Given the description of an element on the screen output the (x, y) to click on. 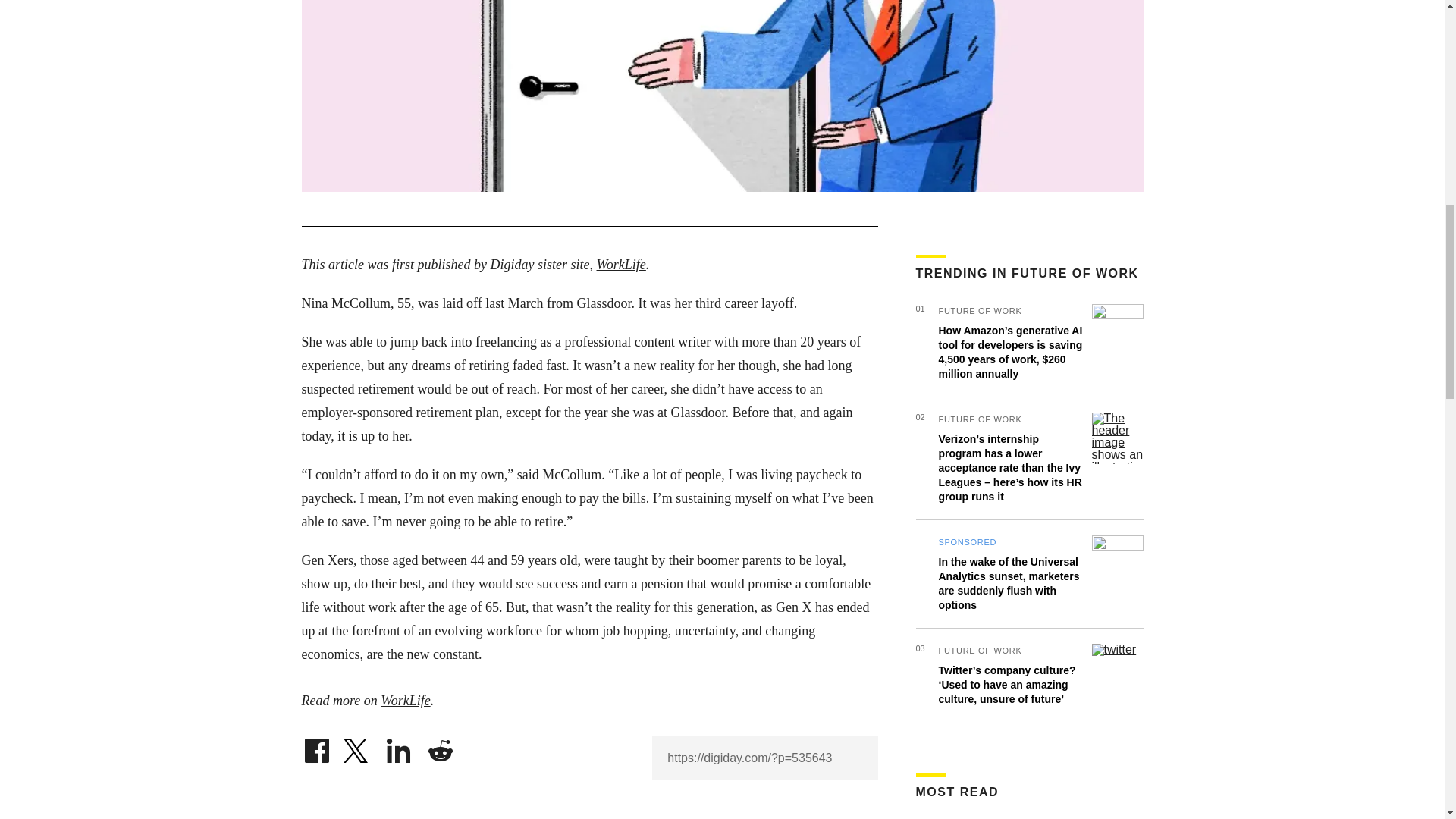
Share on Reddit (440, 746)
Share on LinkedIn (398, 746)
Share on Facebook (316, 746)
Share on Twitter (357, 746)
